Given the description of an element on the screen output the (x, y) to click on. 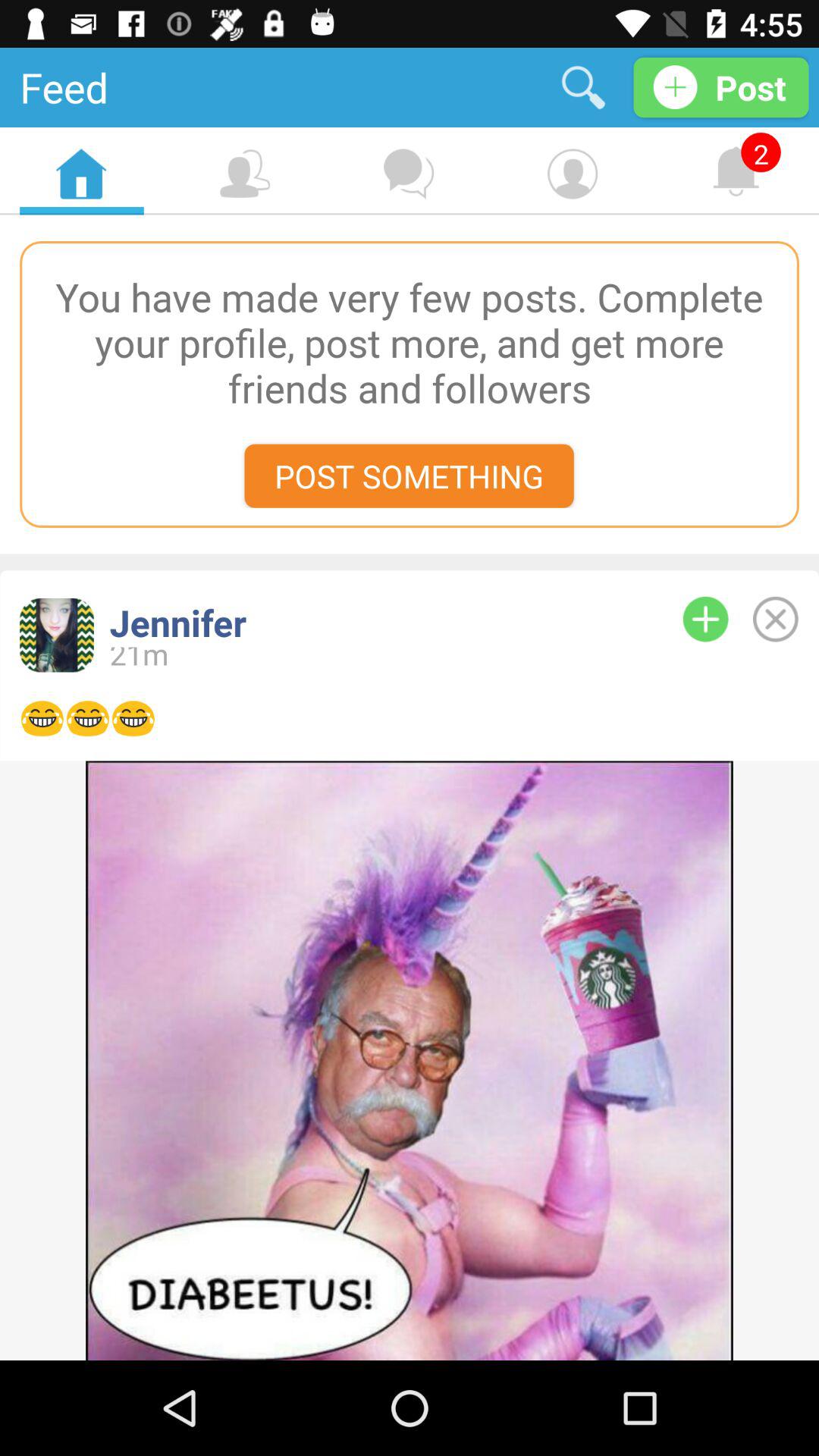
press jennifer item (371, 622)
